Given the description of an element on the screen output the (x, y) to click on. 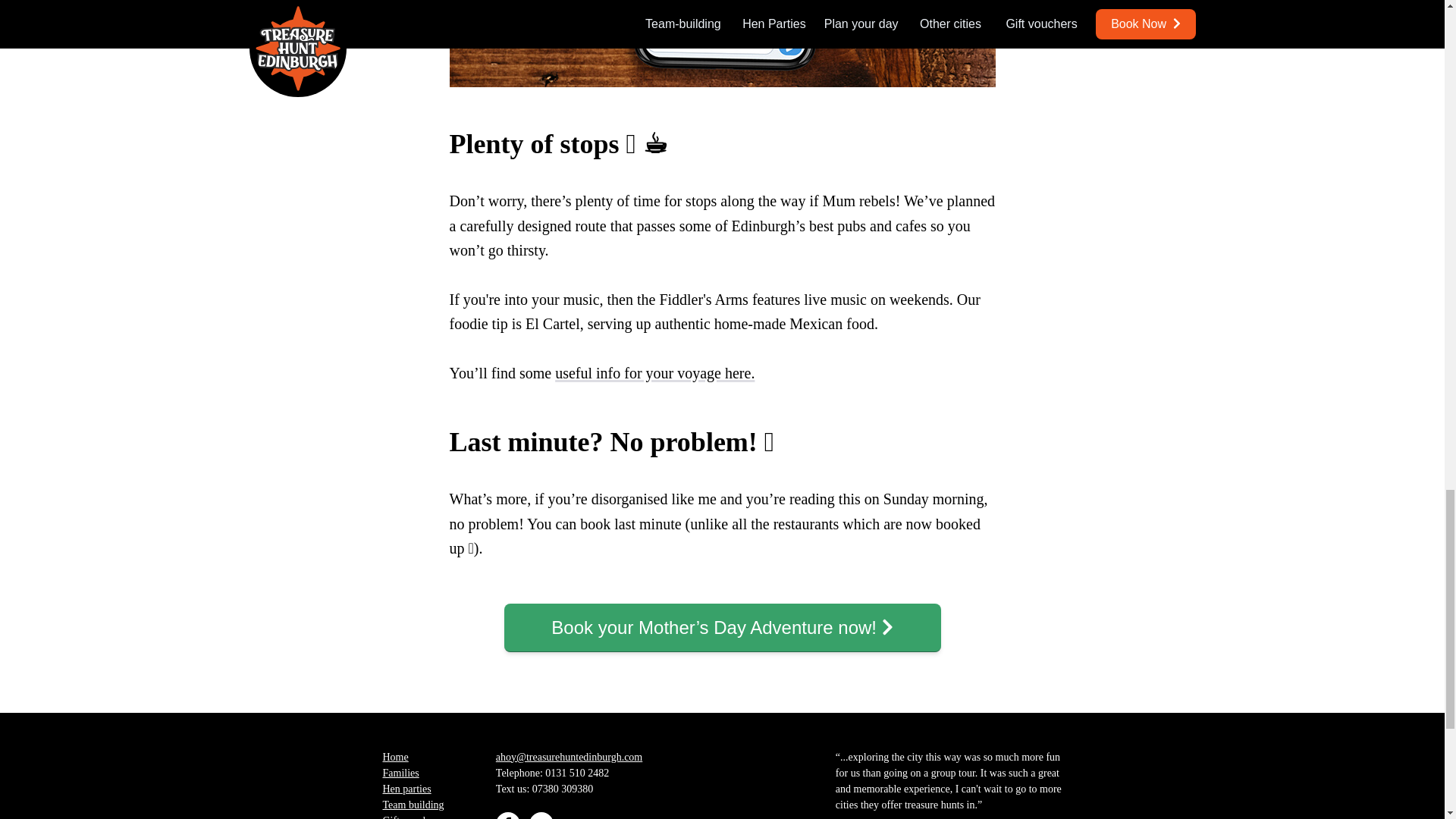
07380 309380 (563, 787)
Families (400, 772)
Team building (412, 804)
Home (394, 756)
Hen parties (405, 787)
Gift vouchers (411, 816)
useful info for your voyage here. (654, 371)
